Given the description of an element on the screen output the (x, y) to click on. 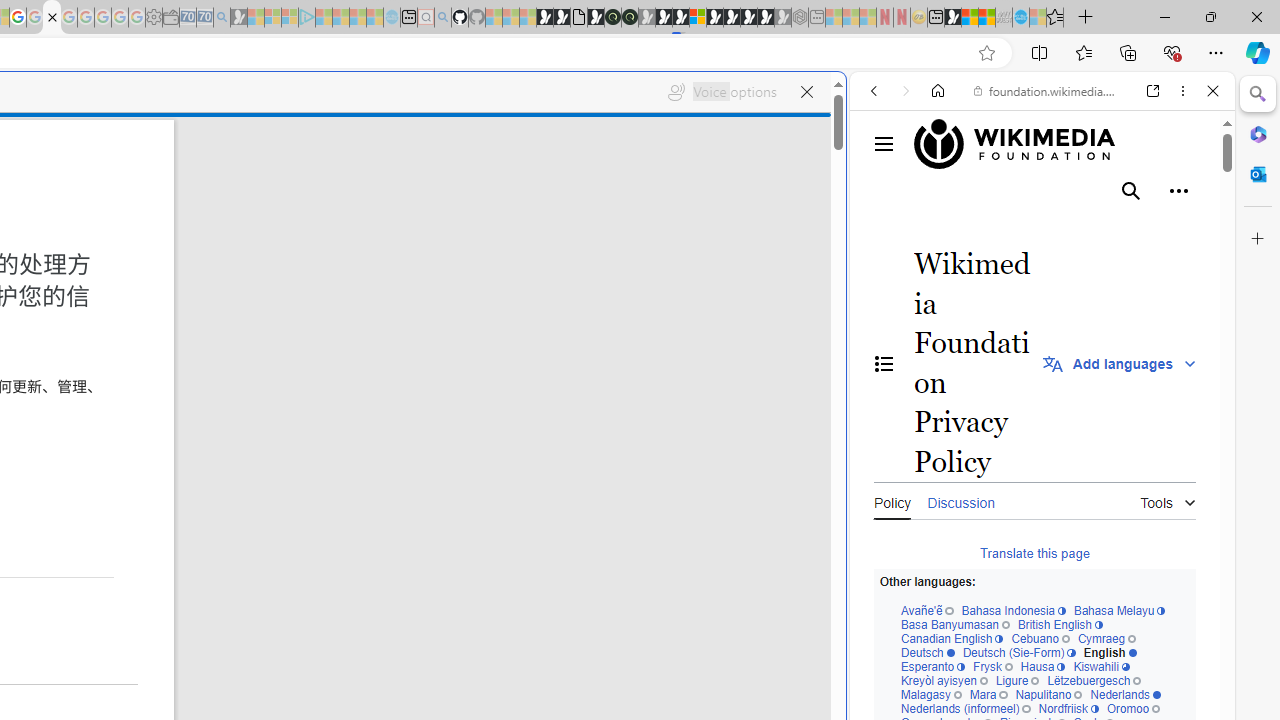
Translate this page (1034, 552)
Wikimedia Foundation Governance Wiki (1024, 143)
WEB   (882, 228)
Tabs you've opened (276, 265)
Oromoo (1132, 709)
Hausa (1043, 667)
Deutsch (Sie-Form) (1019, 652)
